Given the description of an element on the screen output the (x, y) to click on. 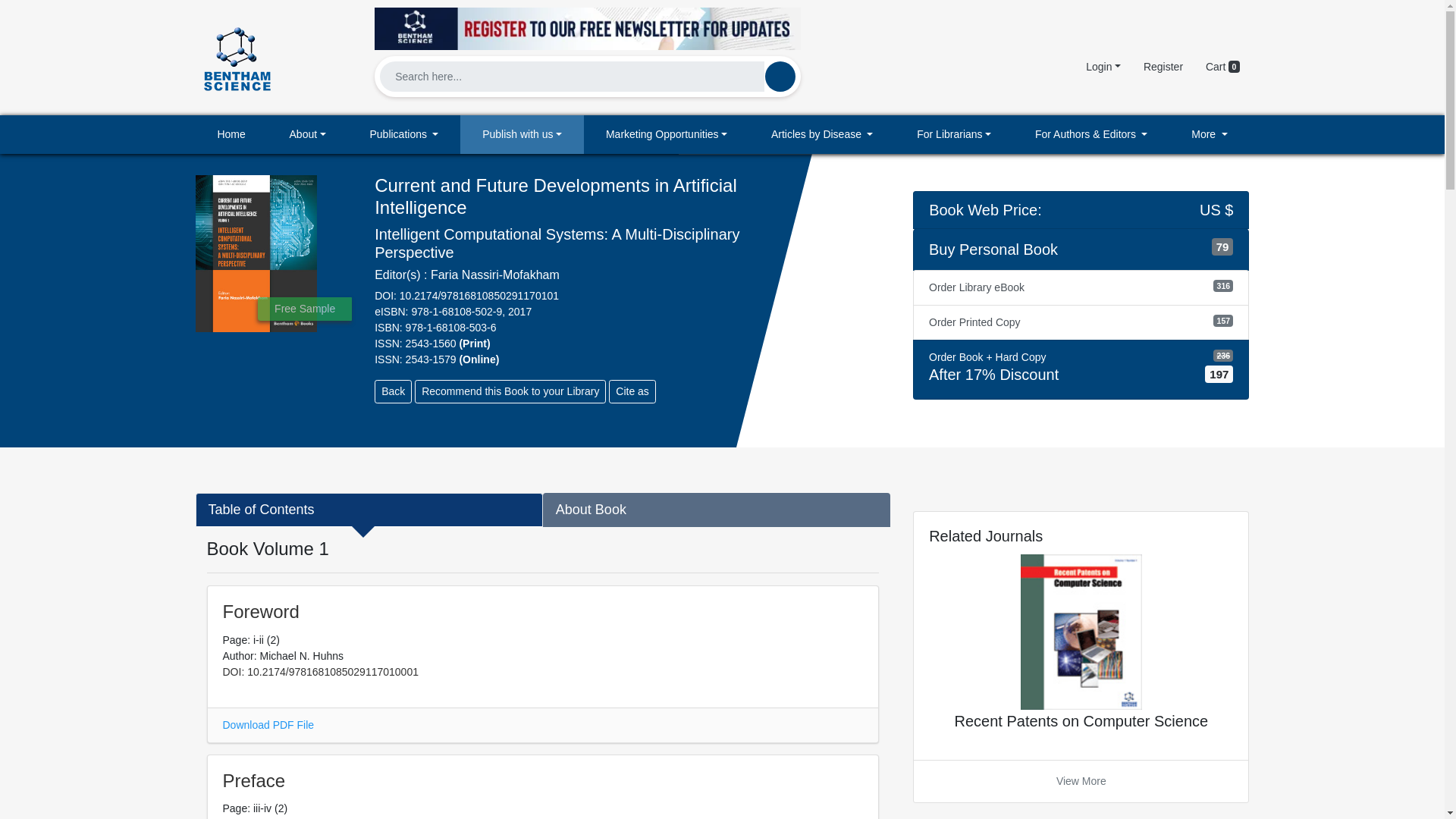
Search Button (779, 76)
Search anything here (779, 76)
Register (1163, 67)
newsletter banner (587, 24)
newsletter banner (587, 28)
Login (1103, 67)
Home (231, 134)
Publications (404, 134)
Cart 0 (1222, 67)
About (307, 134)
